Given the description of an element on the screen output the (x, y) to click on. 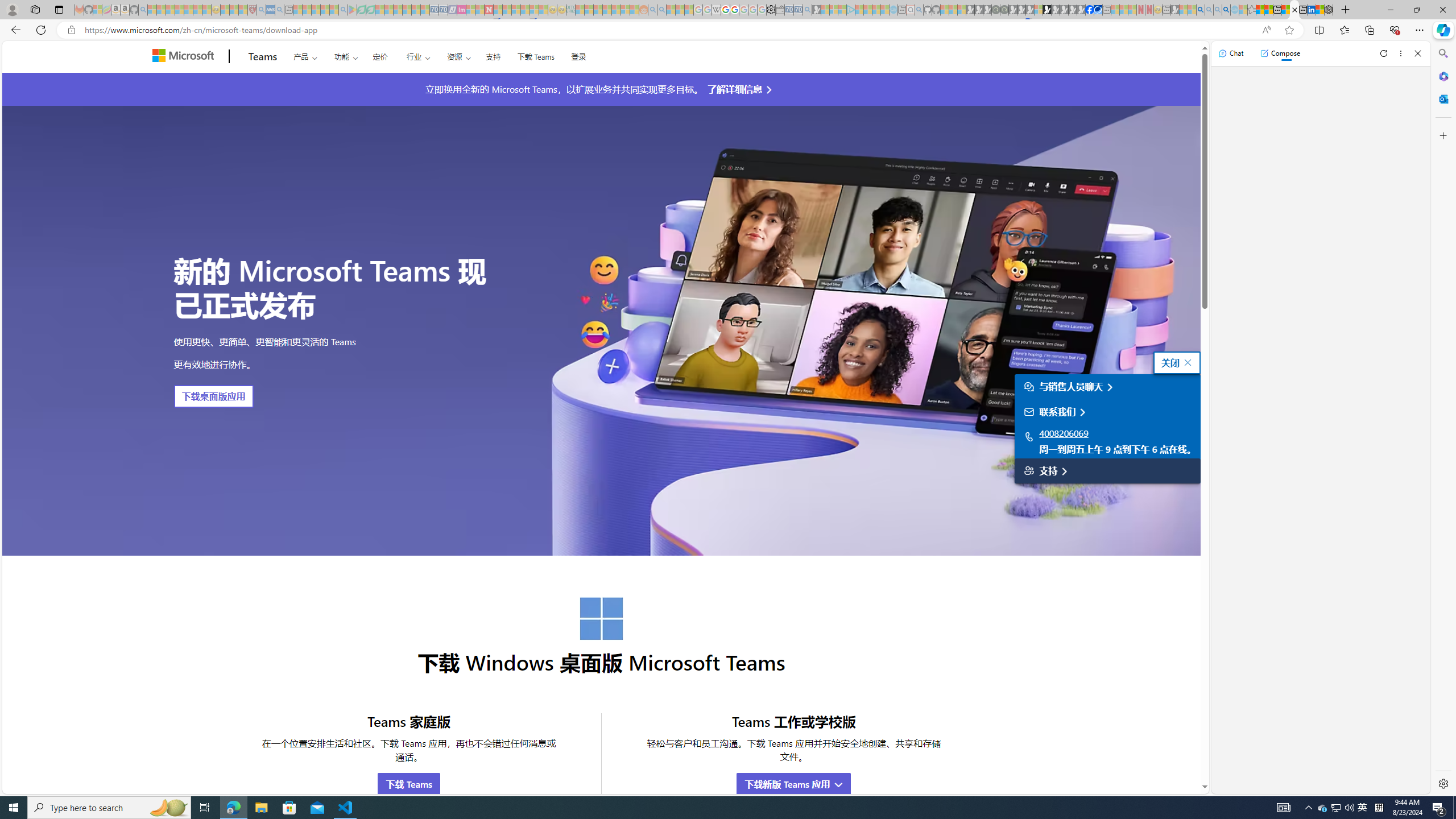
MSN - Sleeping (1174, 9)
Chat (1230, 52)
Aberdeen, Hong Kong SAR weather forecast | Microsoft Weather (1268, 9)
